Given the description of an element on the screen output the (x, y) to click on. 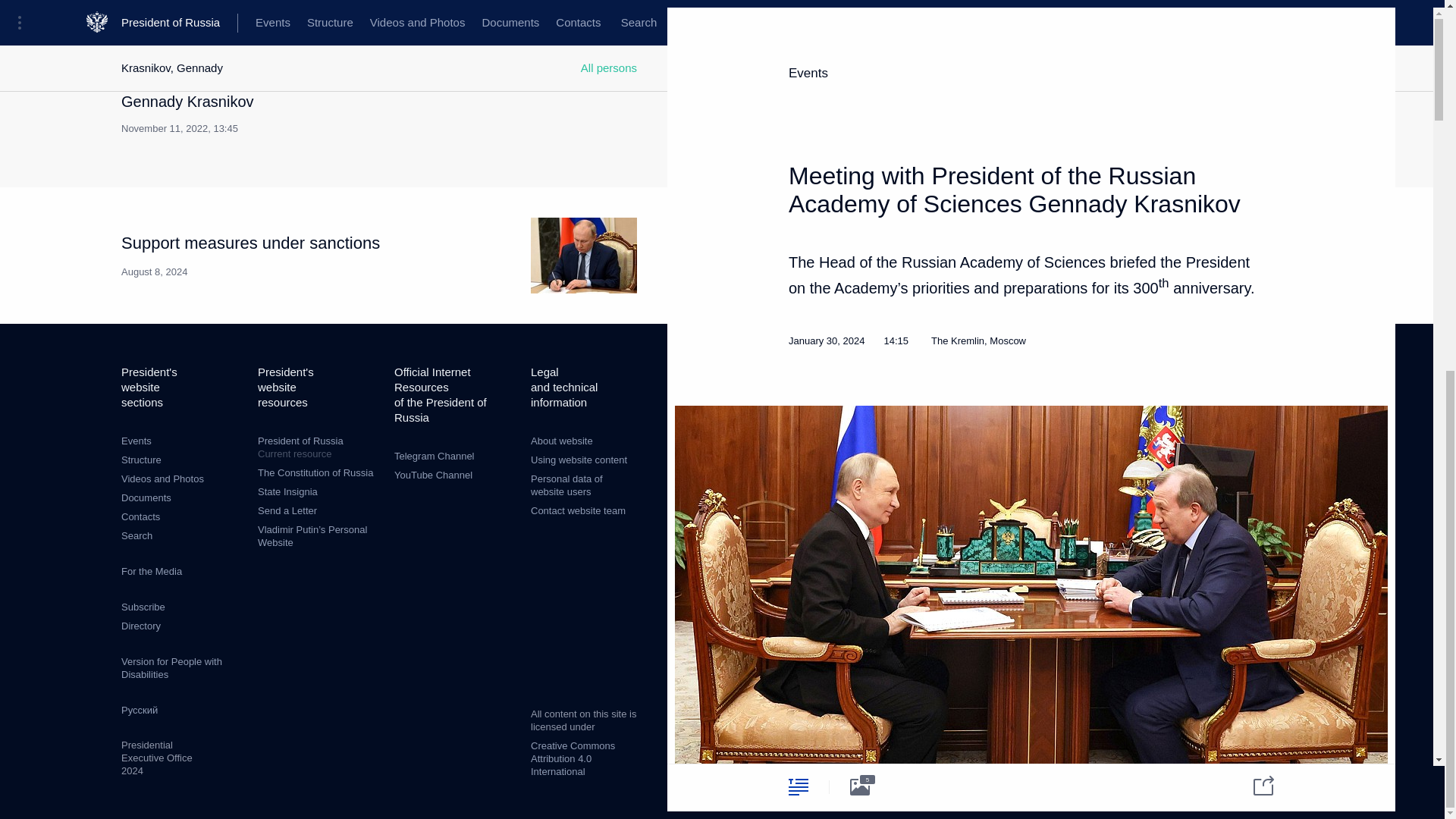
Version for People with Disabilities (171, 668)
Subscribe (142, 606)
Documents (145, 497)
Videos and Photos (378, 255)
Directory (161, 478)
For the Media (317, 447)
State Insignia (140, 625)
